Given the description of an element on the screen output the (x, y) to click on. 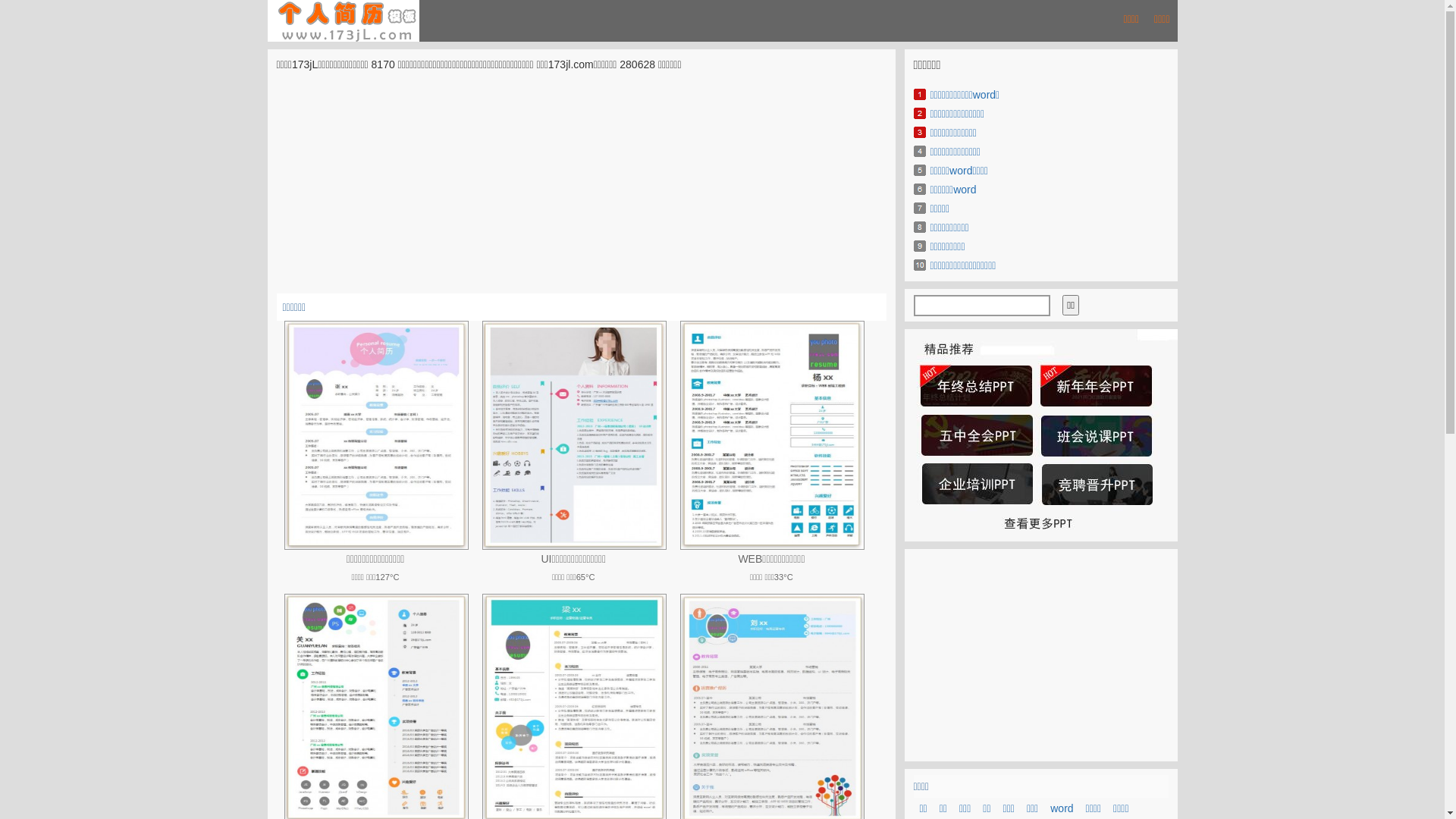
word Element type: text (1061, 808)
Advertisement Element type: hover (580, 187)
Advertisement Element type: hover (1039, 655)
